Given the description of an element on the screen output the (x, y) to click on. 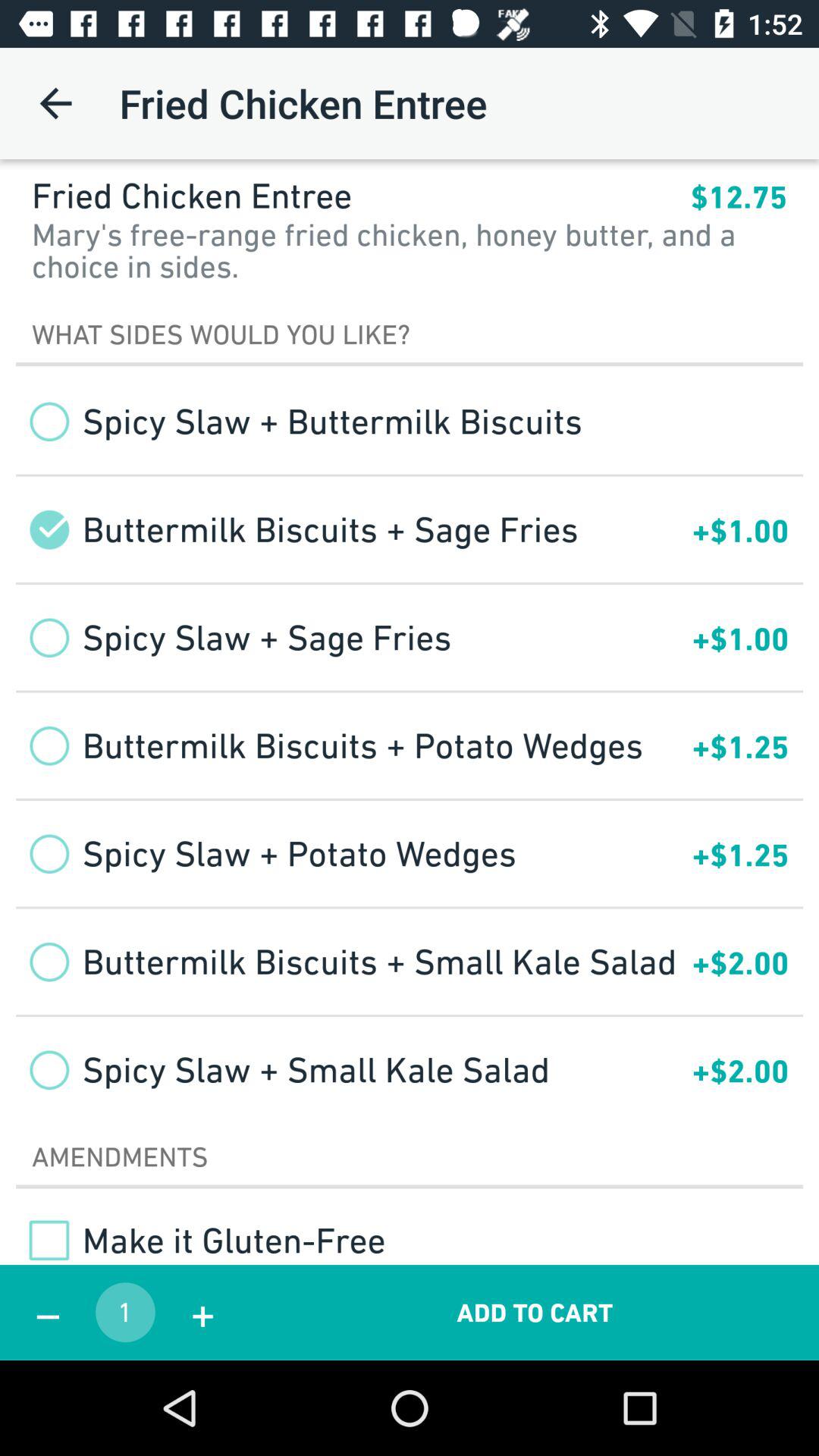
turn on add to cart (534, 1312)
